Given the description of an element on the screen output the (x, y) to click on. 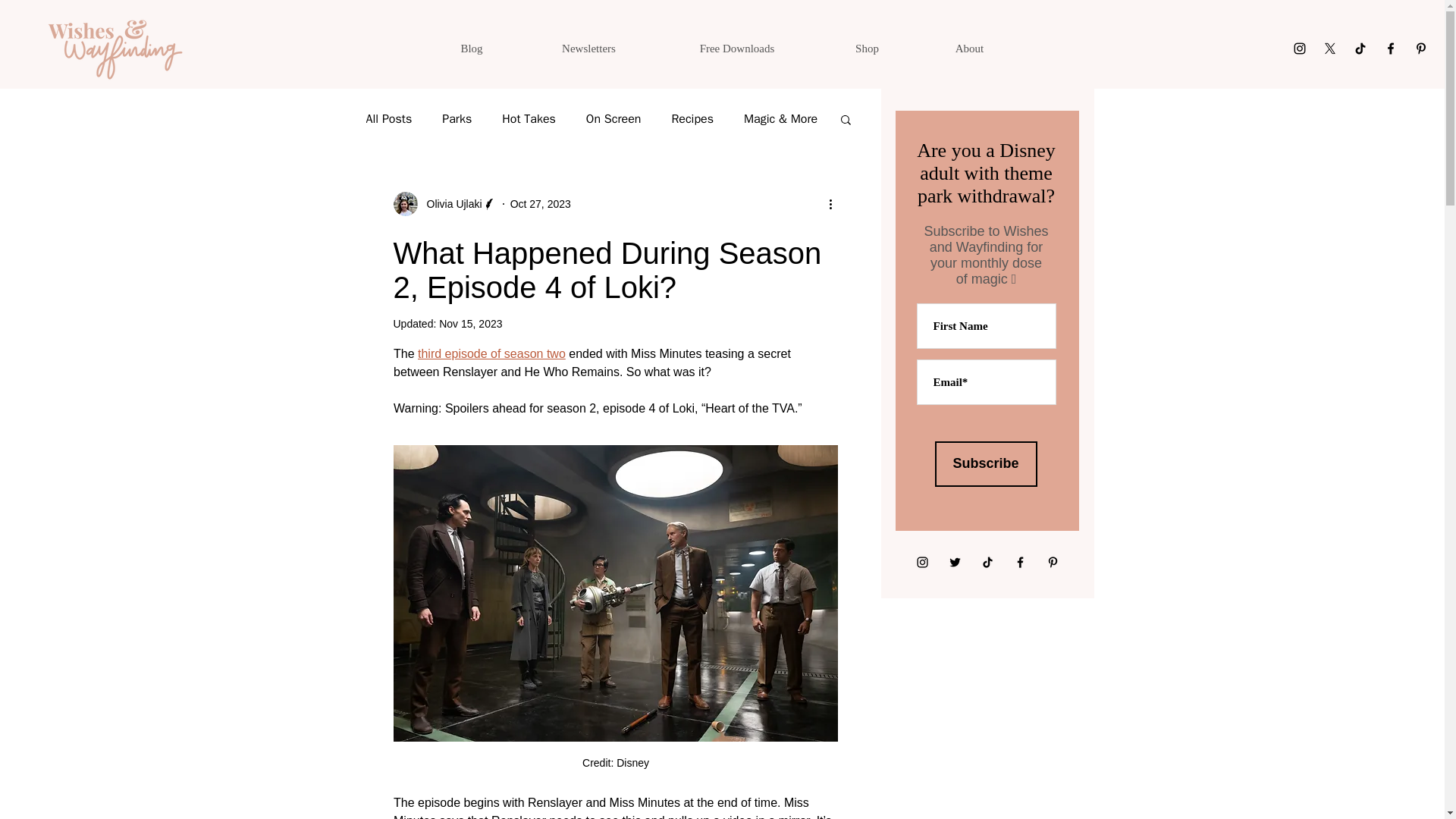
Olivia Ujlaki (448, 203)
All Posts (388, 118)
third episode of season two (491, 353)
Newsletters (587, 48)
Shop (866, 48)
Oct 27, 2023 (540, 203)
Olivia Ujlaki (444, 203)
Blog (472, 48)
Hot Takes (529, 118)
Nov 15, 2023 (470, 323)
Free Downloads (736, 48)
On Screen (614, 118)
Recipes (692, 118)
Parks (456, 118)
